Given the description of an element on the screen output the (x, y) to click on. 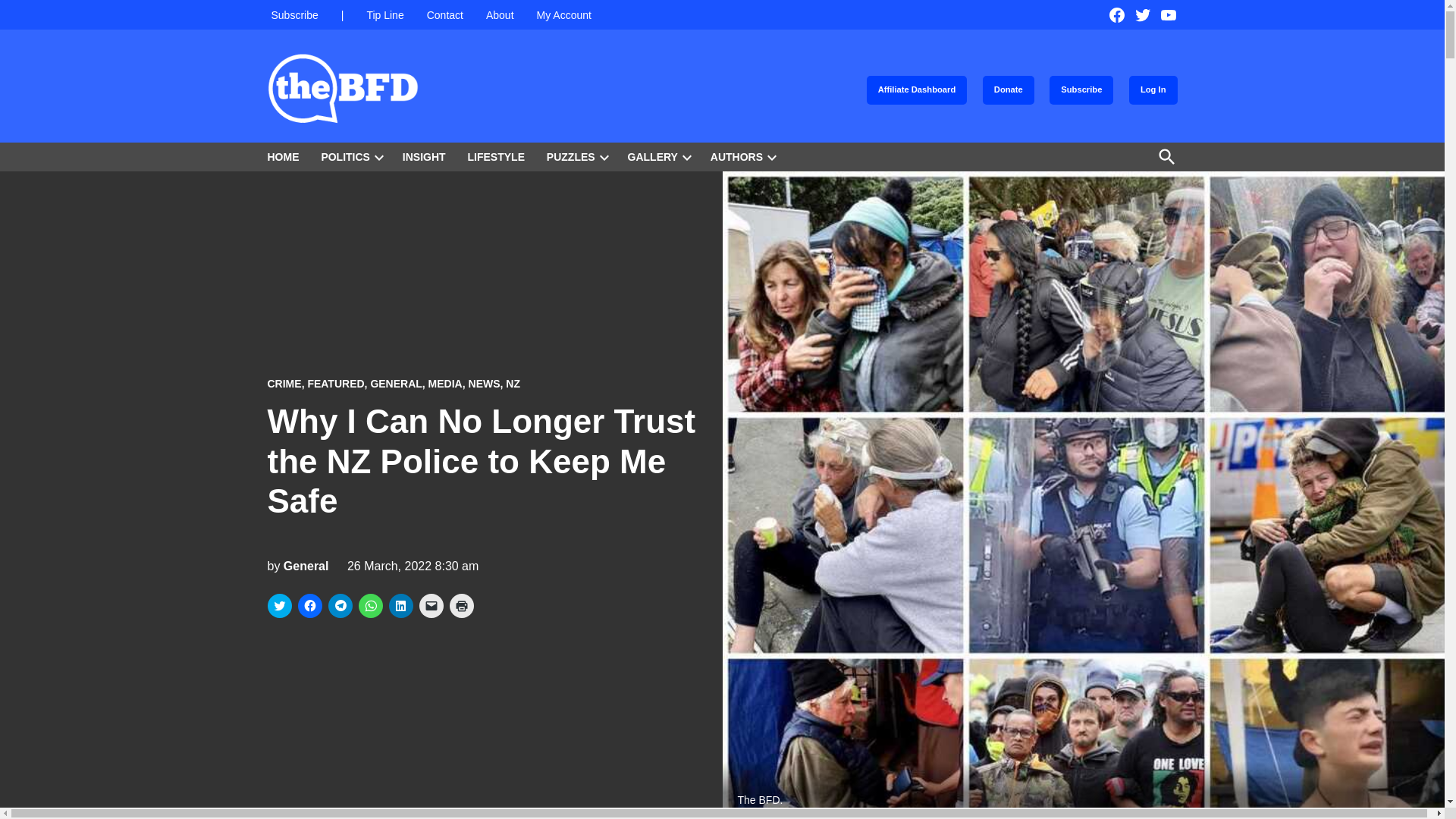
Click to share on Twitter (278, 605)
Click to share on LinkedIn (400, 605)
Click to share on WhatsApp (369, 605)
Click to email a link to a friend (430, 605)
Click to share on Telegram (339, 605)
Click to print (460, 605)
Click to share on Facebook (309, 605)
